Given the description of an element on the screen output the (x, y) to click on. 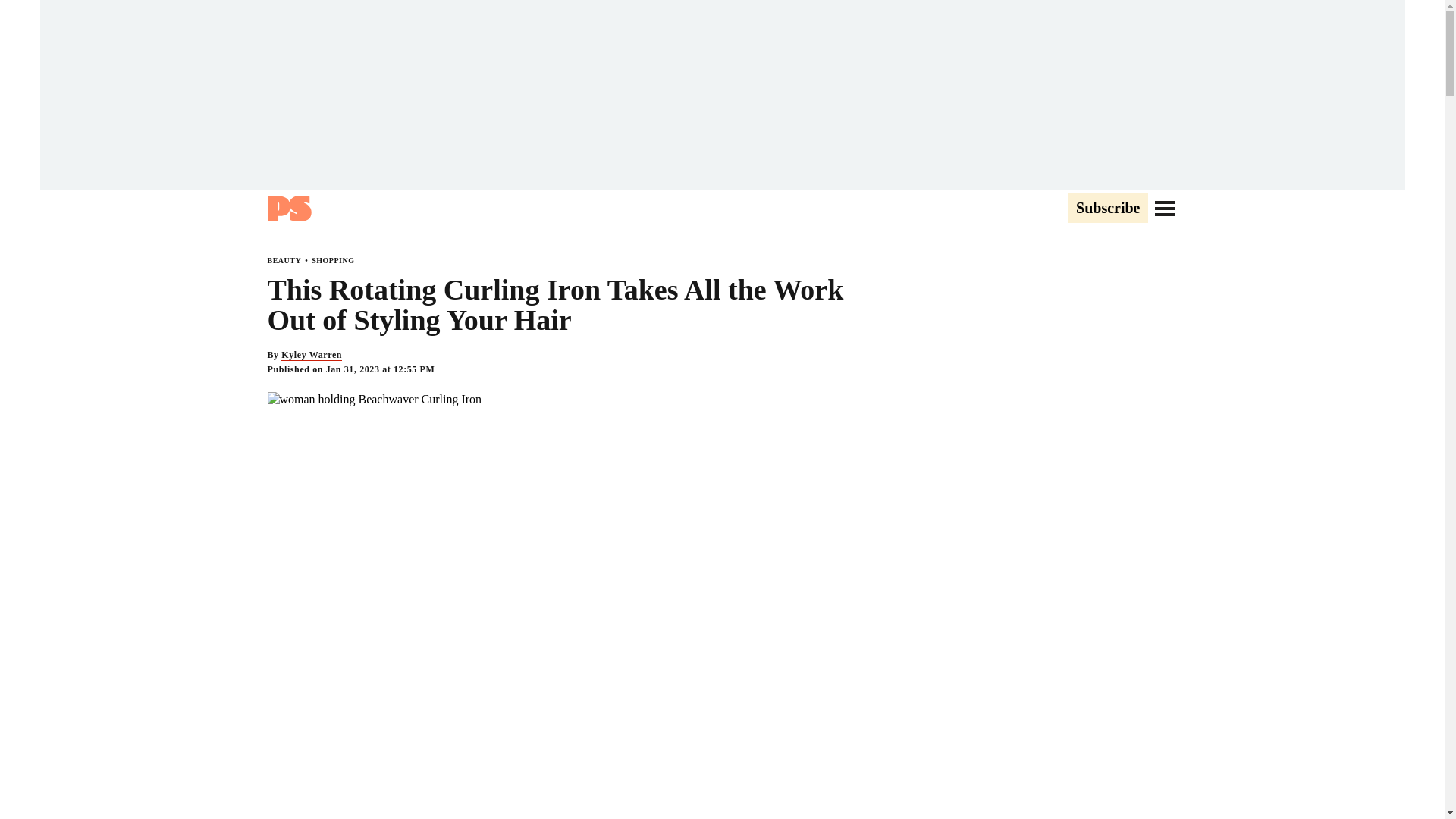
Go to Navigation (1164, 207)
SHOPPING (332, 260)
Popsugar (288, 208)
Kyley Warren (311, 355)
Go to Navigation (1164, 207)
BEAUTY (283, 260)
Subscribe (1107, 208)
